Given the description of an element on the screen output the (x, y) to click on. 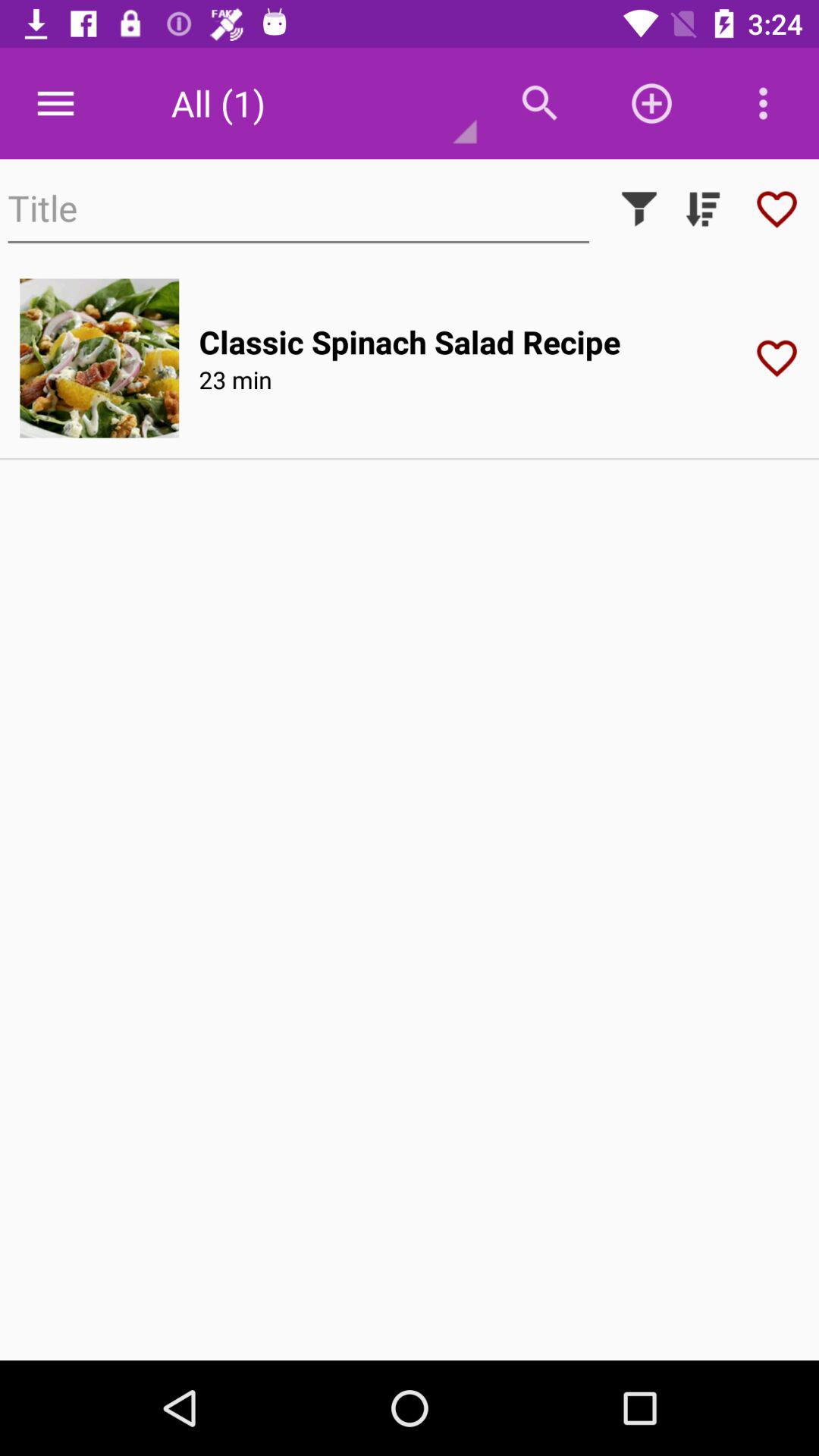
use filter (639, 208)
